Given the description of an element on the screen output the (x, y) to click on. 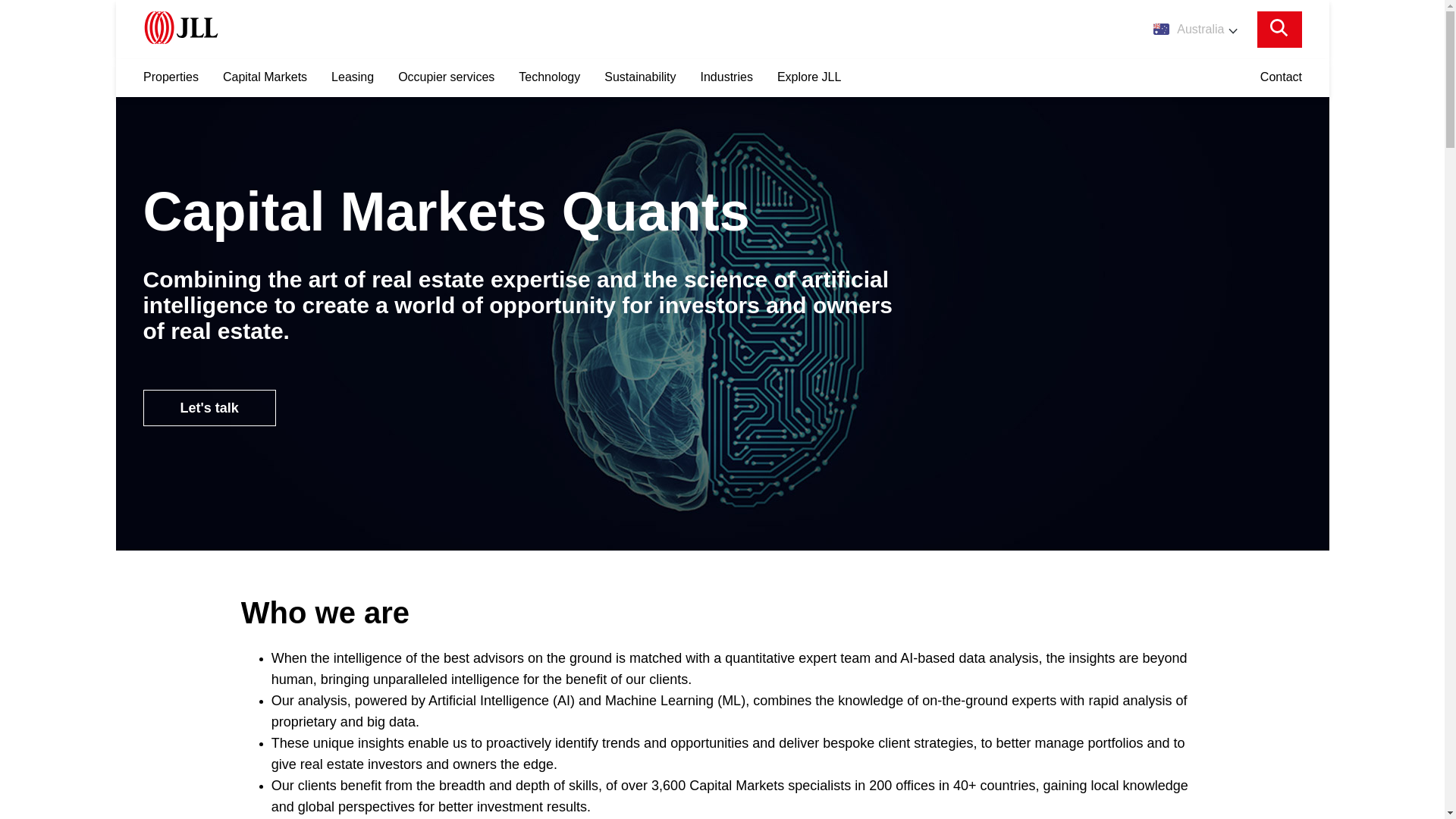
Australia (1194, 29)
